Given the description of an element on the screen output the (x, y) to click on. 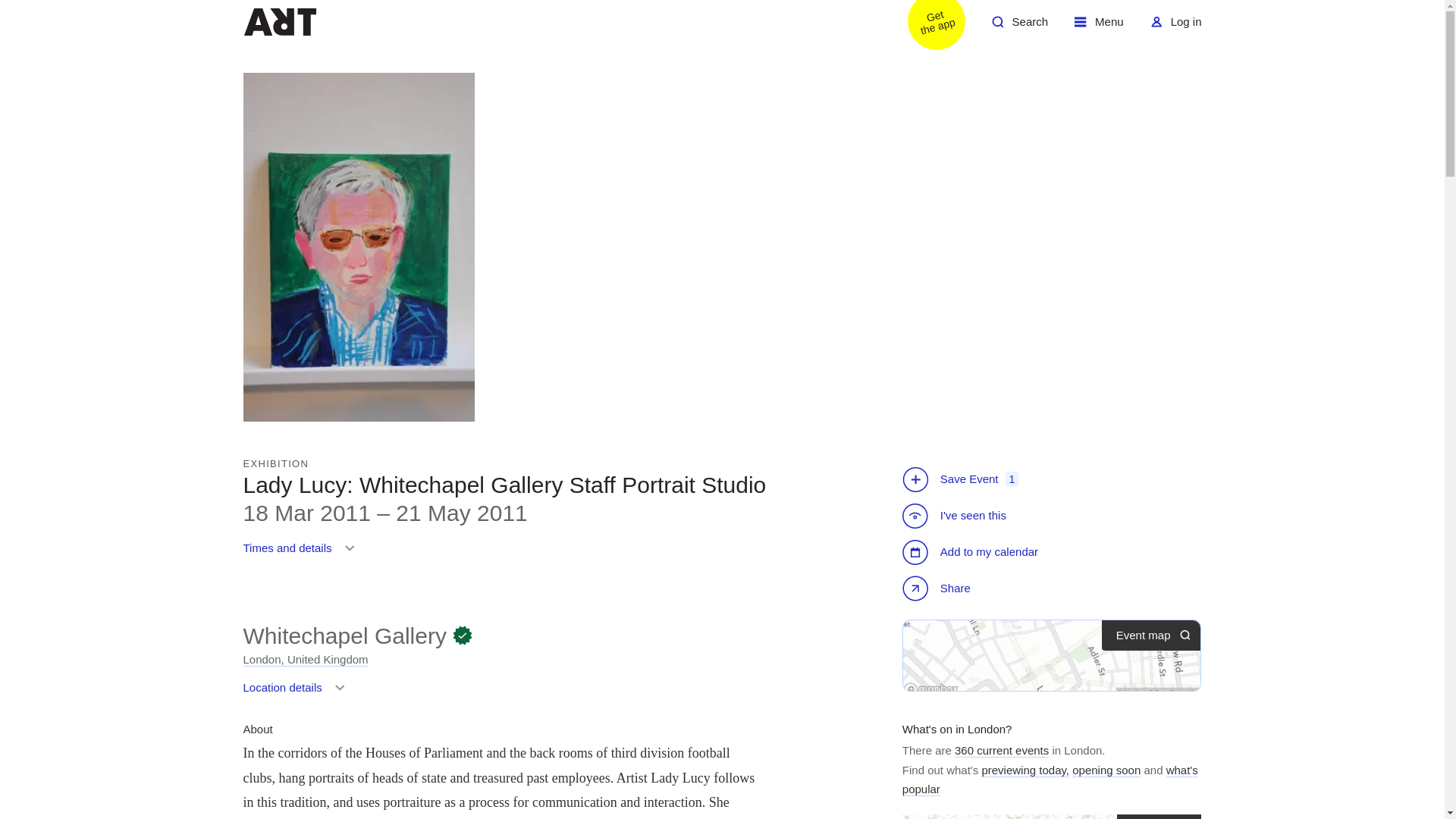
Share (938, 589)
Whitechapel Gallery (926, 27)
Add to my calendar (344, 635)
London, United Kingdom (972, 551)
Welcome to ArtRabbit (1019, 26)
